Given the description of an element on the screen output the (x, y) to click on. 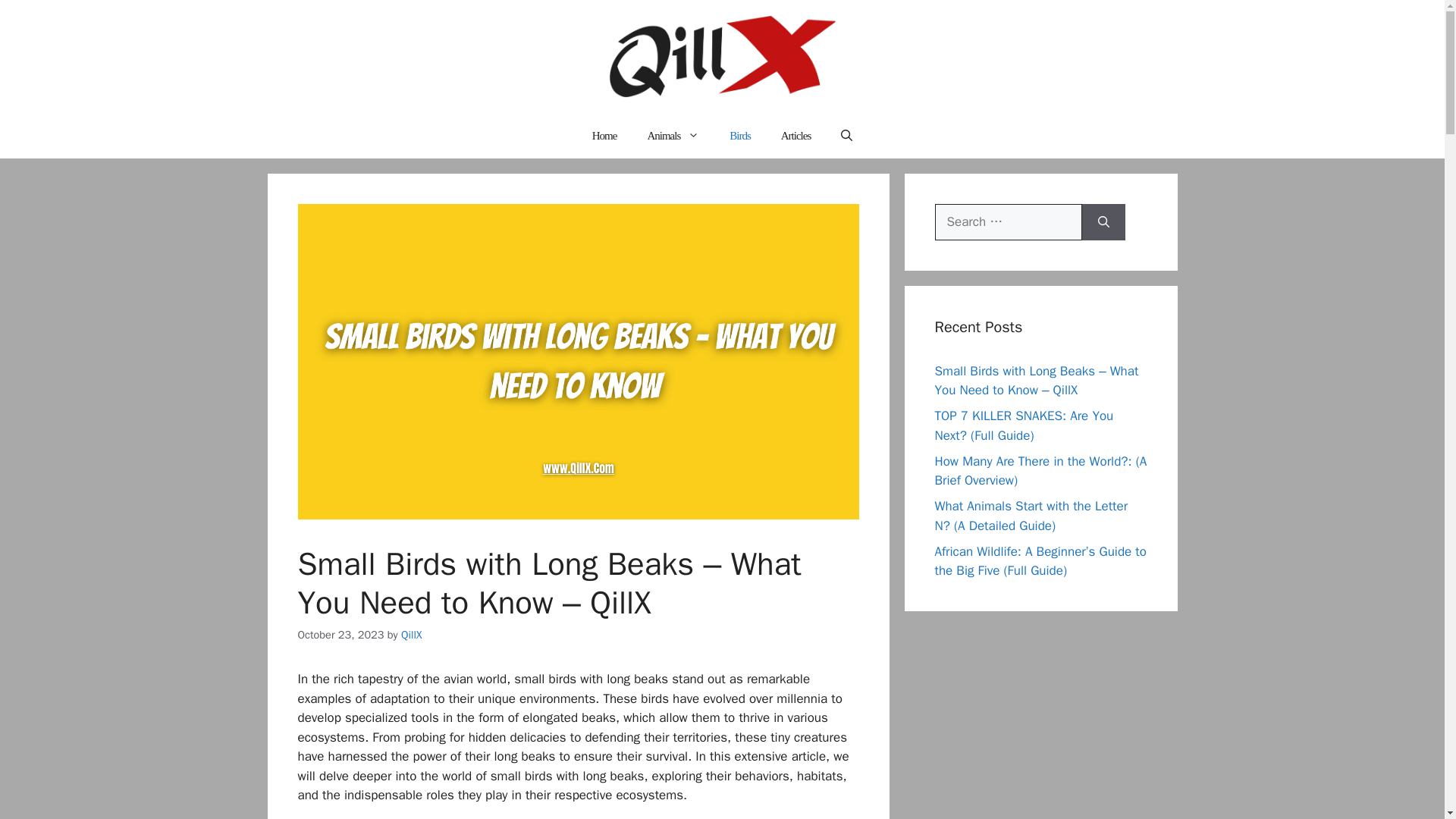
Birds (739, 135)
Animals (672, 135)
QillX (411, 634)
View all posts by QillX (411, 634)
Search for: (1007, 221)
Articles (795, 135)
Home (603, 135)
